Given the description of an element on the screen output the (x, y) to click on. 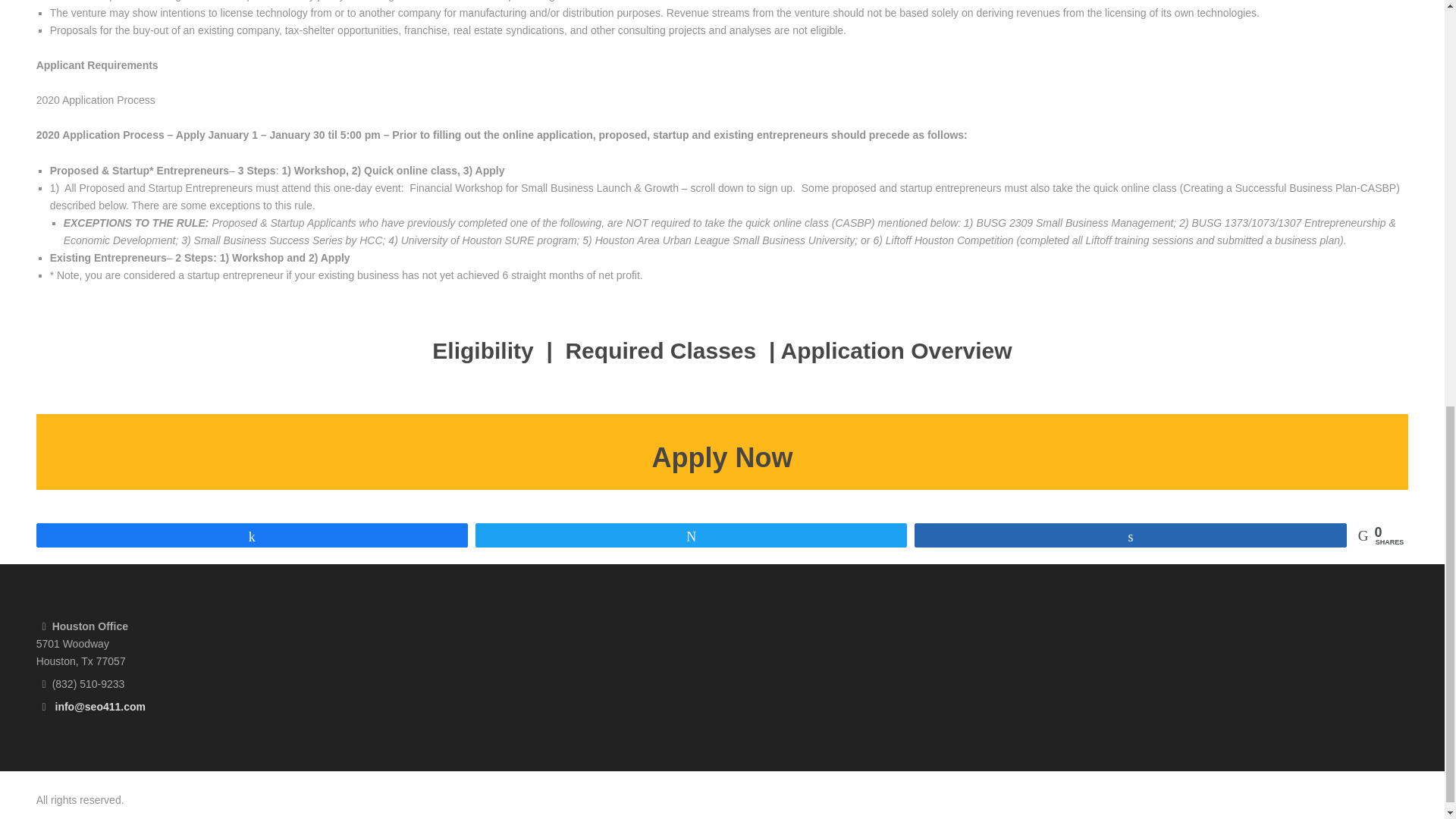
Application Overview (895, 350)
Required Classes  (662, 350)
Eligibility (482, 350)
Apply Now (722, 457)
